Given the description of an element on the screen output the (x, y) to click on. 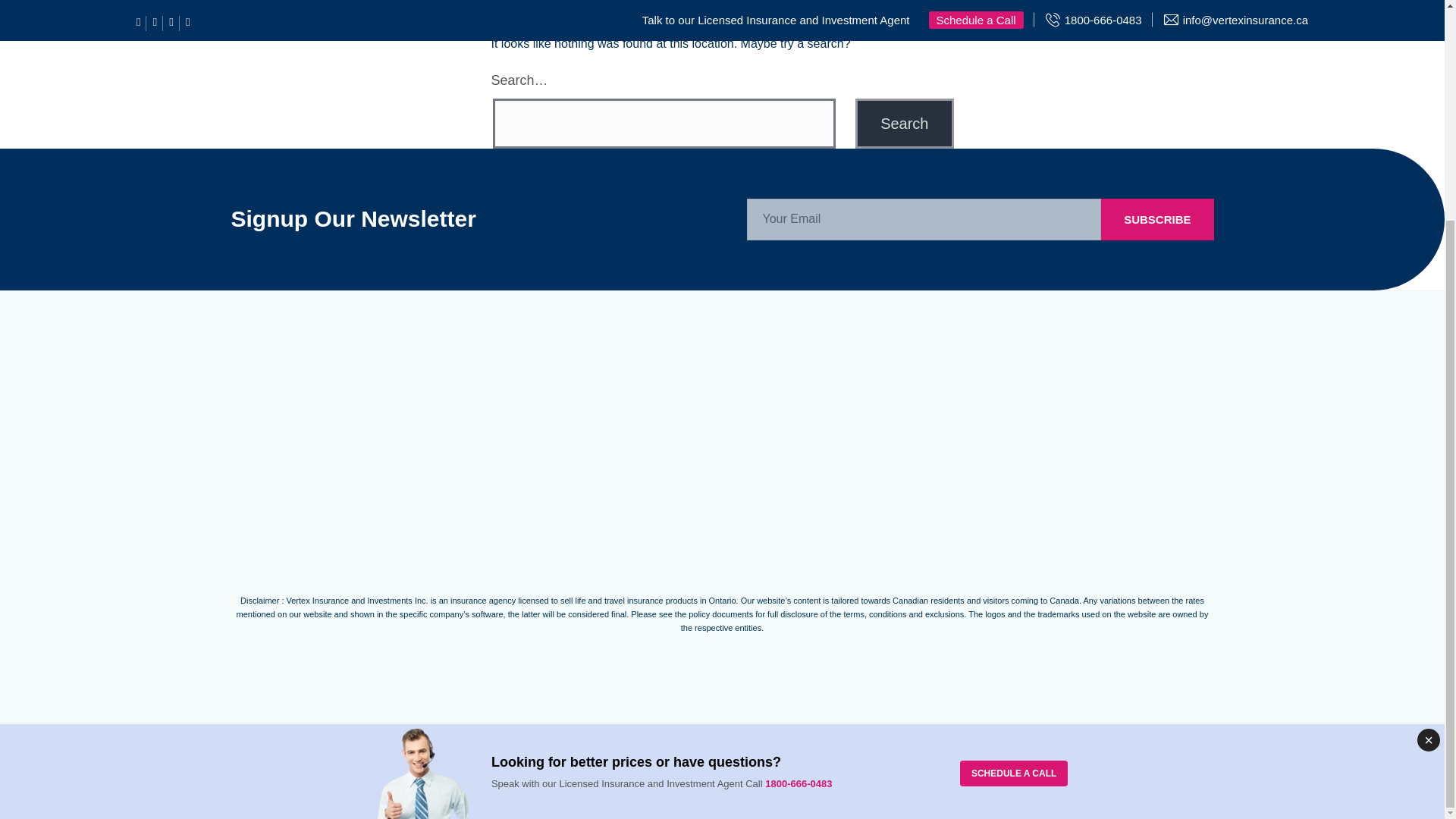
Search (904, 123)
Search (904, 123)
Subscribe (1156, 219)
